Given the description of an element on the screen output the (x, y) to click on. 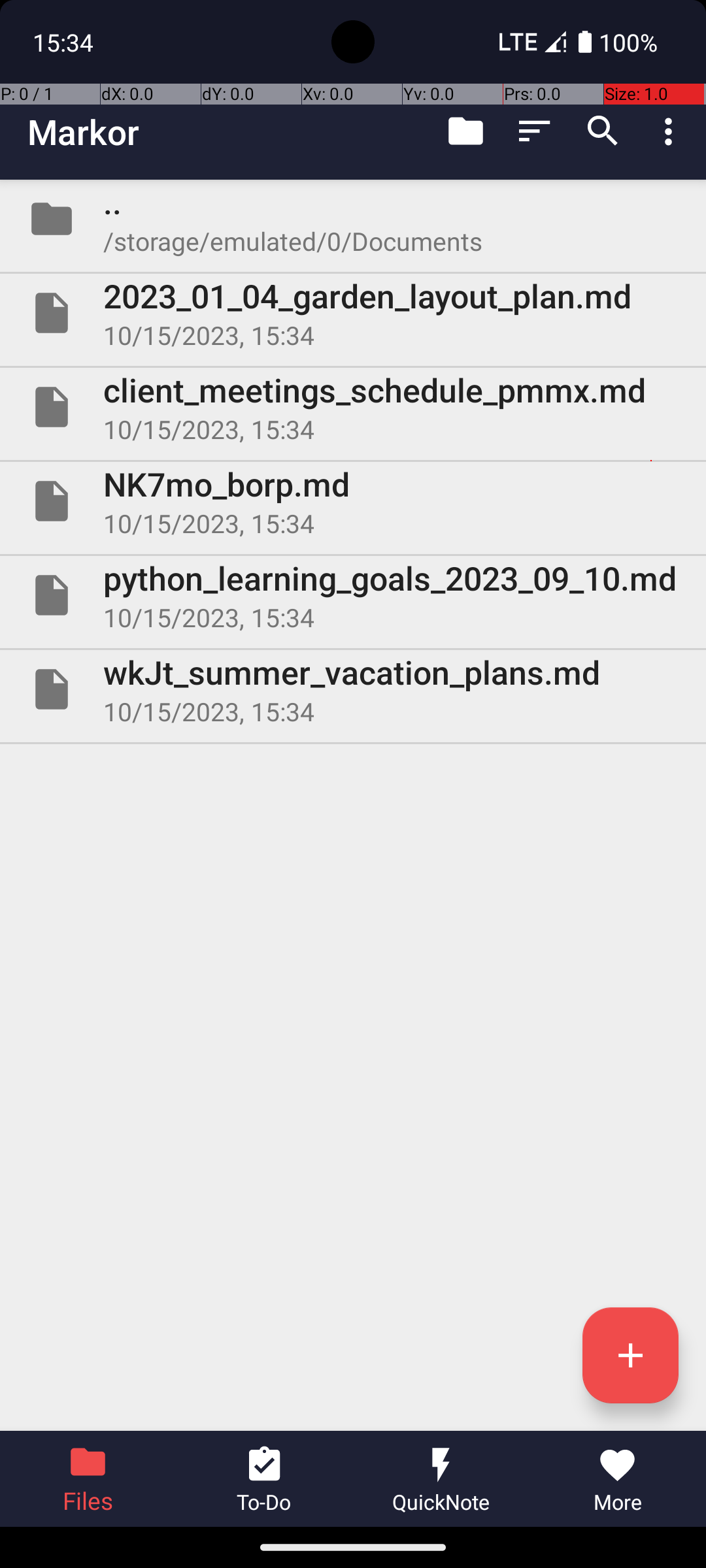
File 2023_01_04_garden_layout_plan.md  Element type: android.widget.LinearLayout (353, 312)
File client_meetings_schedule_pmmx.md  Element type: android.widget.LinearLayout (353, 406)
File NK7mo_borp.md  Element type: android.widget.LinearLayout (353, 500)
File python_learning_goals_2023_09_10.md  Element type: android.widget.LinearLayout (353, 594)
File wkJt_summer_vacation_plans.md  Element type: android.widget.LinearLayout (353, 689)
